Given the description of an element on the screen output the (x, y) to click on. 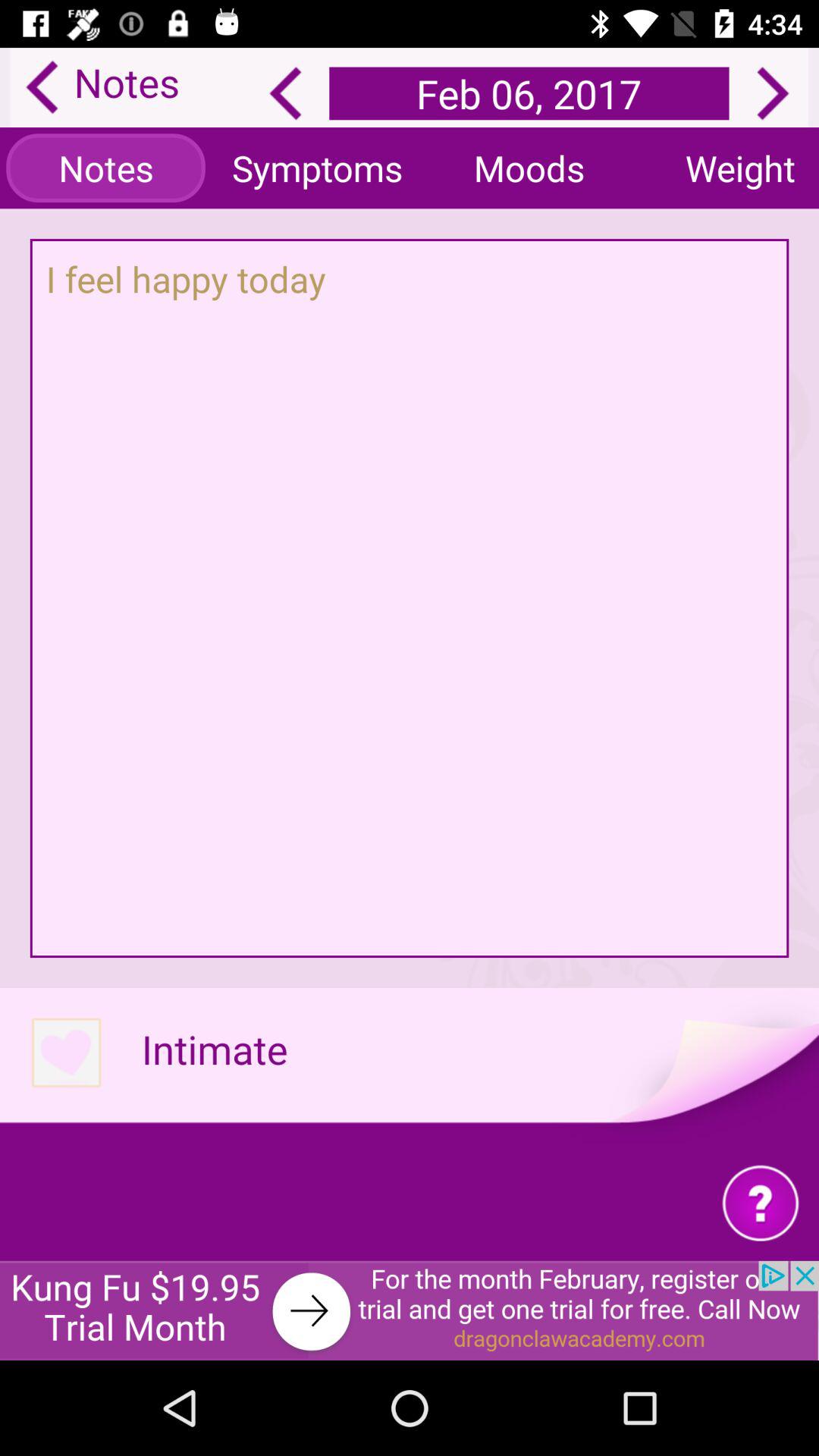
show help (760, 1202)
